Given the description of an element on the screen output the (x, y) to click on. 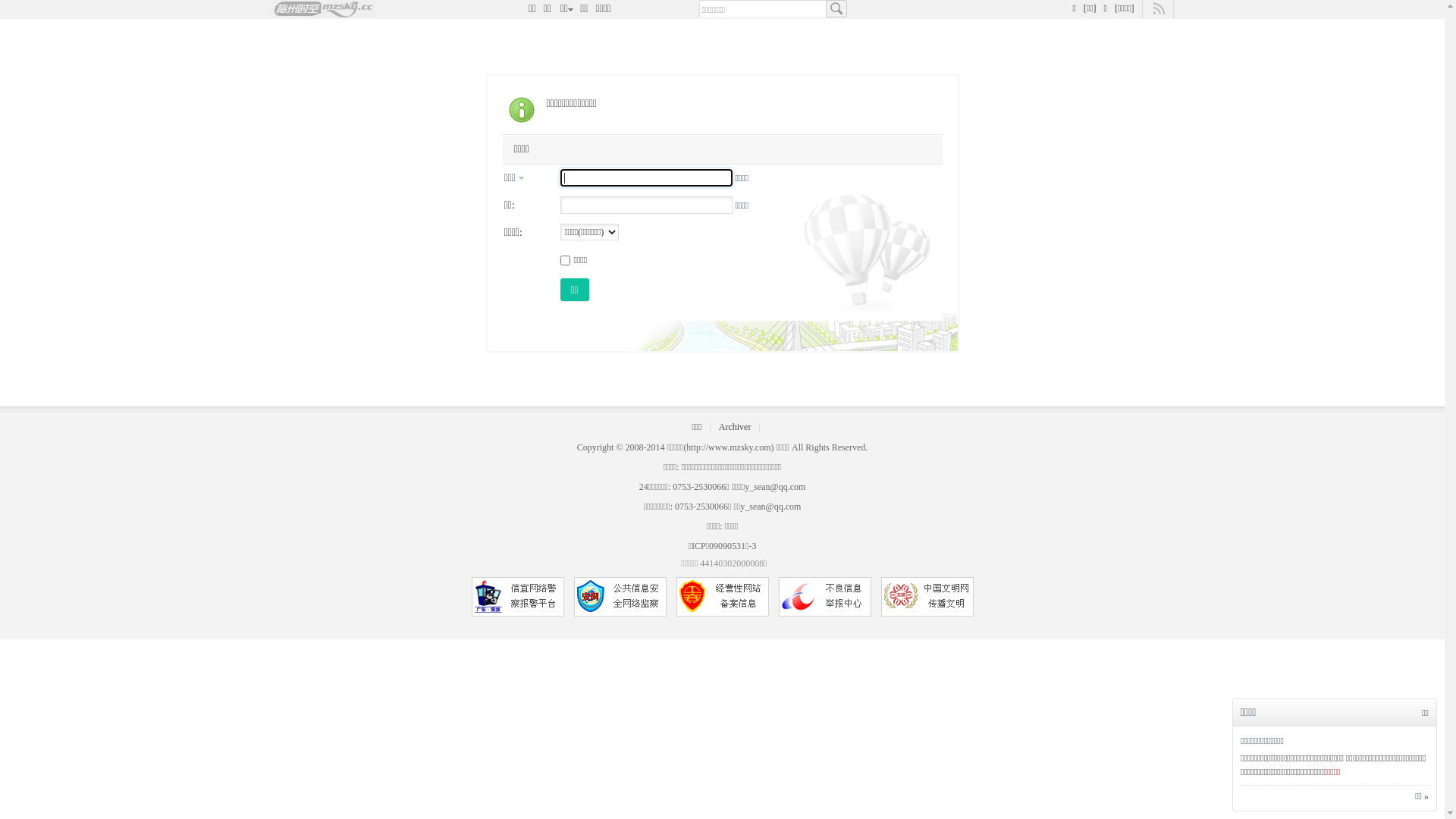
Archiver Element type: text (734, 426)
0753-2530066 Element type: text (701, 506)
0753-2530066 Element type: text (698, 486)
     Element type: text (835, 8)
